Given the description of an element on the screen output the (x, y) to click on. 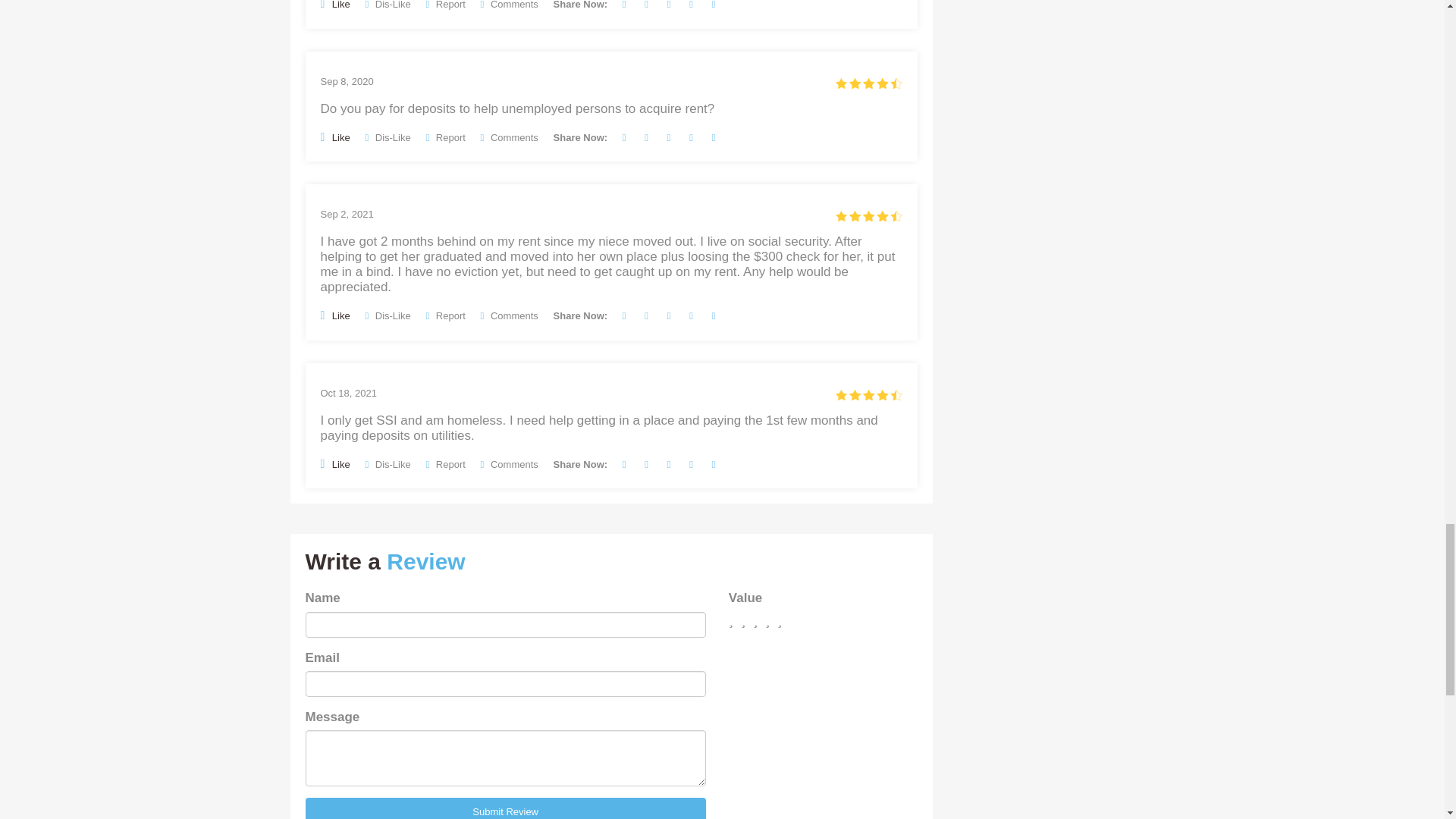
Share Now: (580, 137)
Comments (509, 4)
Share Now: (580, 4)
Like (334, 4)
Comments (509, 137)
Report (444, 137)
Like (334, 136)
Dis-Like (387, 137)
Report (444, 4)
Dis-Like (387, 4)
